Given the description of an element on the screen output the (x, y) to click on. 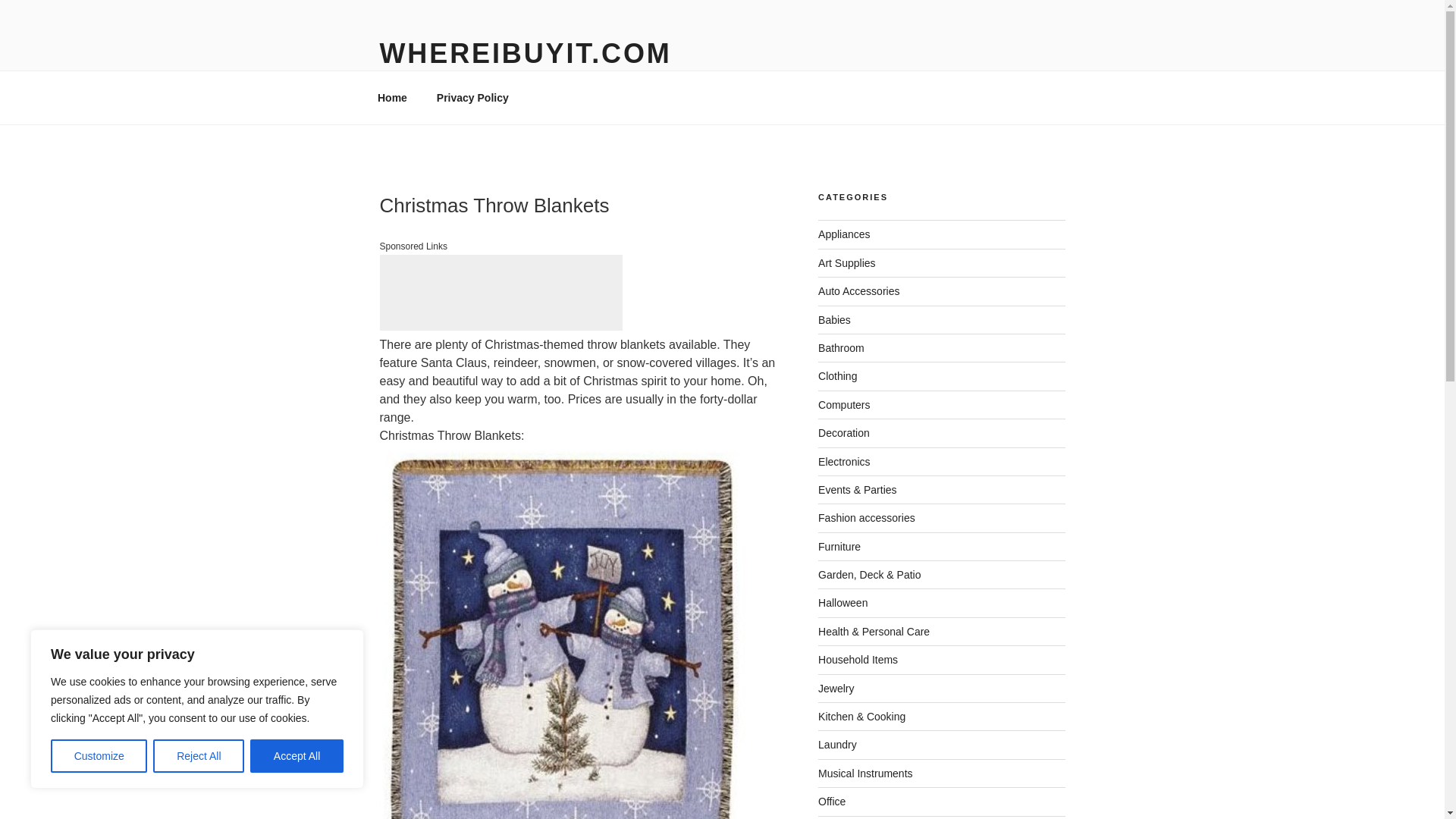
Electronics (843, 461)
Decoration (843, 432)
Babies (834, 319)
Home (392, 97)
Reject All (198, 756)
Fashion accessories (866, 517)
Art Supplies (846, 263)
Computers (843, 404)
Clothing (837, 376)
Privacy Policy (472, 97)
WHEREIBUYIT.COM (524, 52)
Bathroom (841, 347)
Auto Accessories (858, 291)
Advertisement (499, 292)
